Given the description of an element on the screen output the (x, y) to click on. 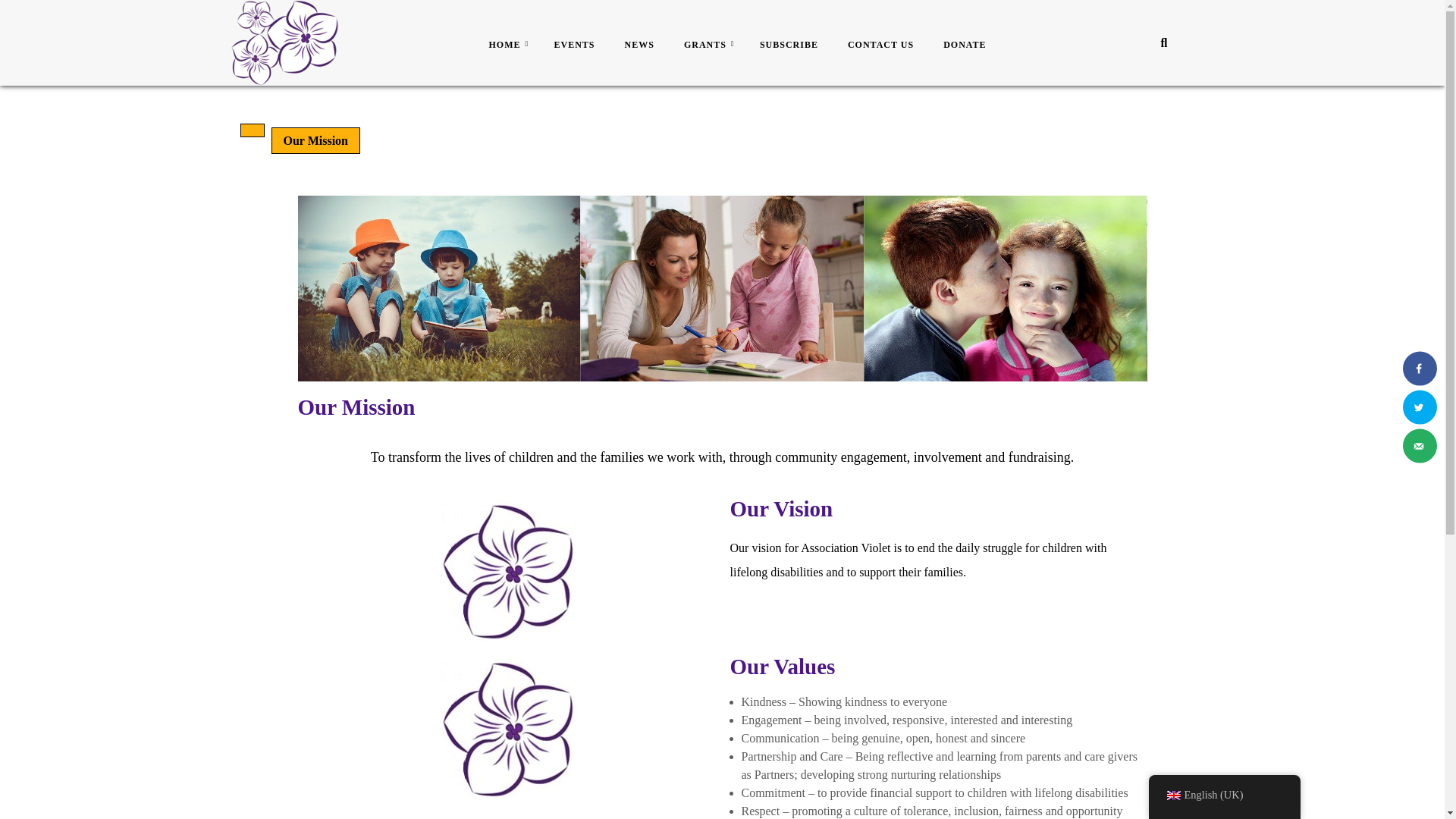
NEWS (644, 44)
EVENTS (579, 44)
Share on Facebook (1420, 368)
Search (1158, 77)
Send over email (1420, 446)
DONATE (970, 44)
GRANTS (713, 44)
HOME (511, 44)
CONTACT US (886, 44)
Share on Twitter (1420, 406)
SUBSCRIBE (794, 44)
